Given the description of an element on the screen output the (x, y) to click on. 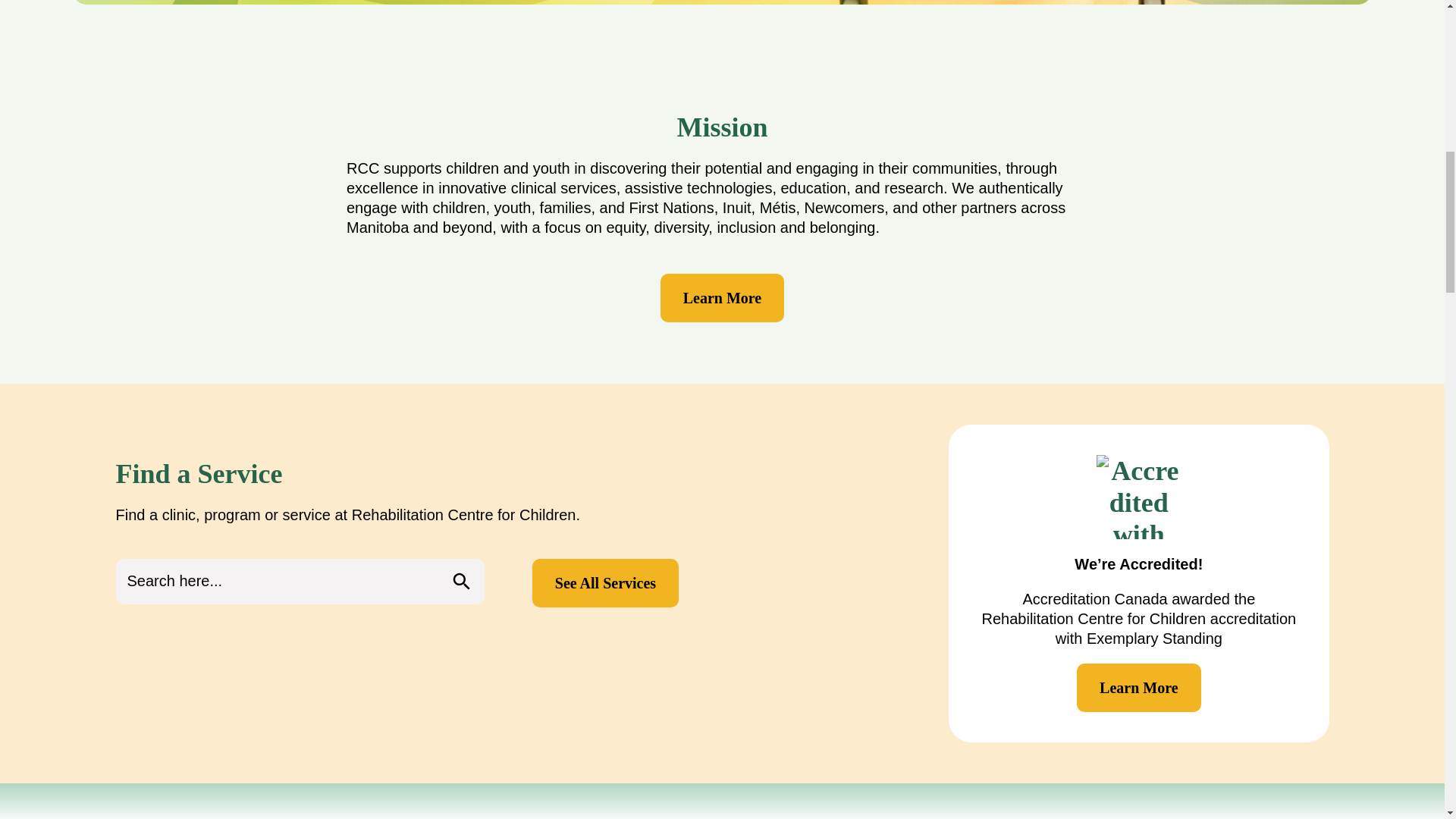
See All Services (605, 582)
Learn More (722, 297)
Learn More (1139, 687)
